Given the description of an element on the screen output the (x, y) to click on. 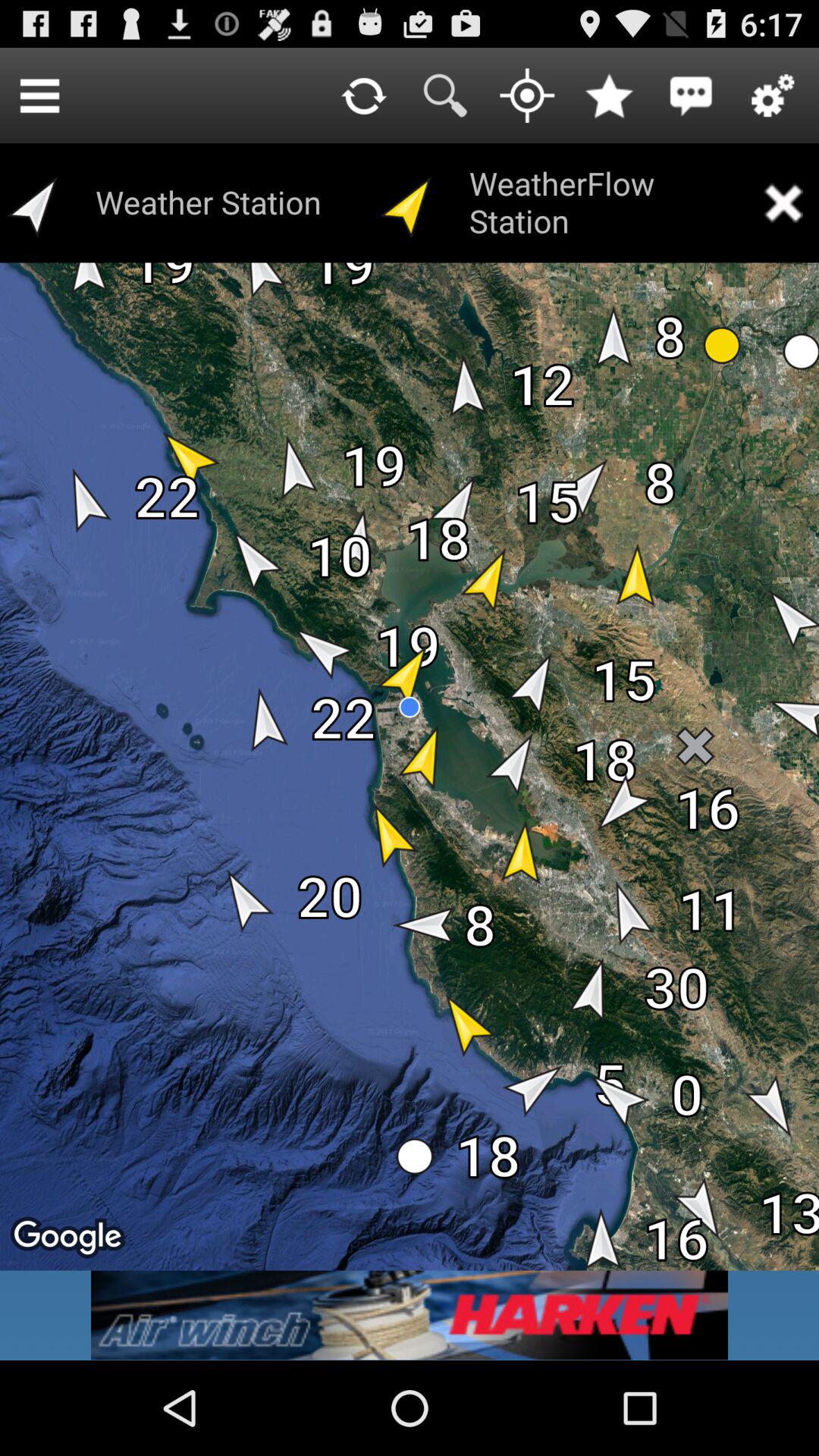
settings (772, 95)
